Given the description of an element on the screen output the (x, y) to click on. 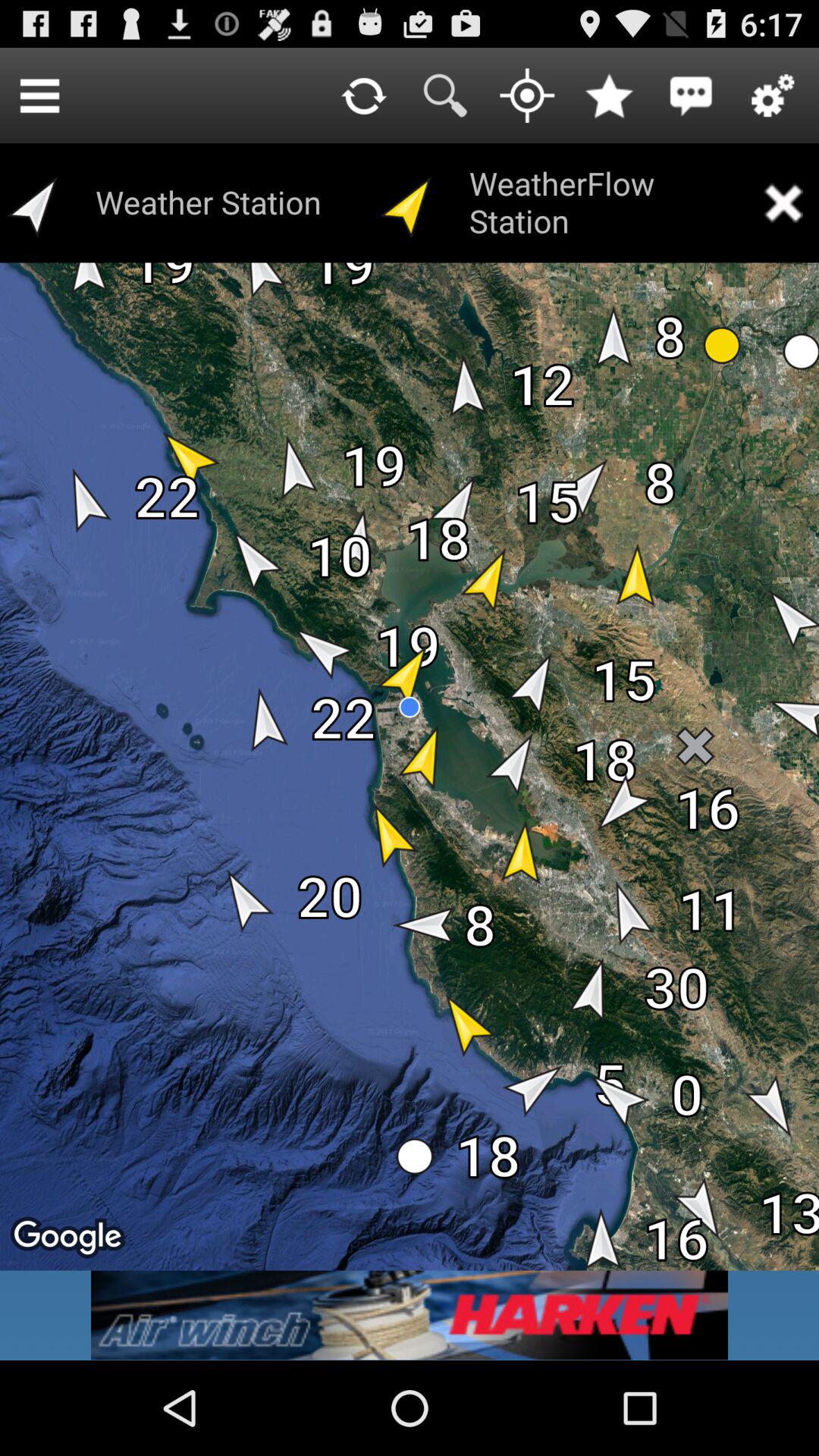
settings (772, 95)
